Given the description of an element on the screen output the (x, y) to click on. 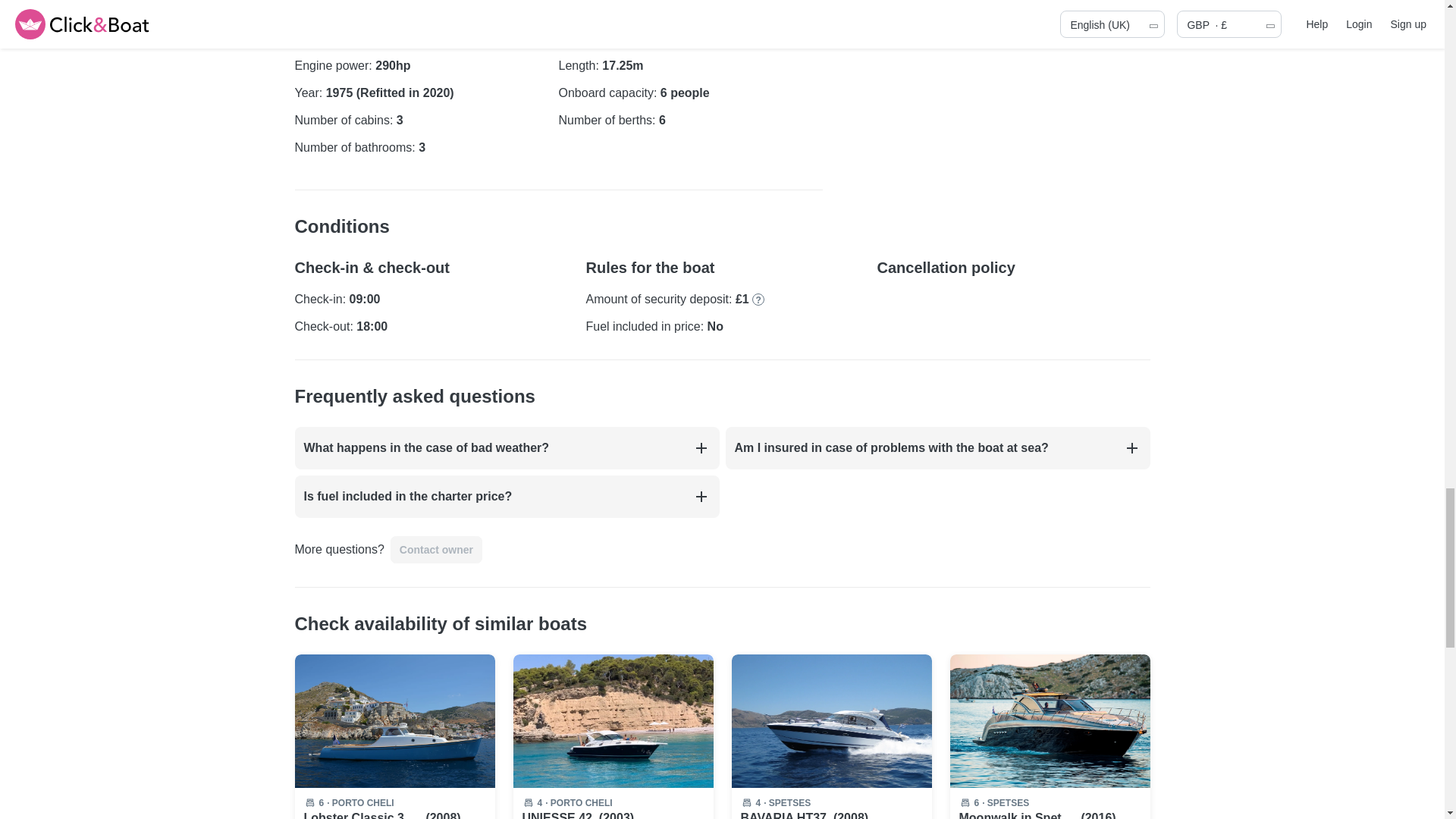
4 berths (539, 802)
Expand Is fuel included in the charter price? (700, 496)
4 berths (757, 802)
Contact owner (435, 549)
6 berths (976, 802)
? (758, 299)
Expand What happens in the case of bad weather? (700, 447)
6 berths (320, 802)
